Given the description of an element on the screen output the (x, y) to click on. 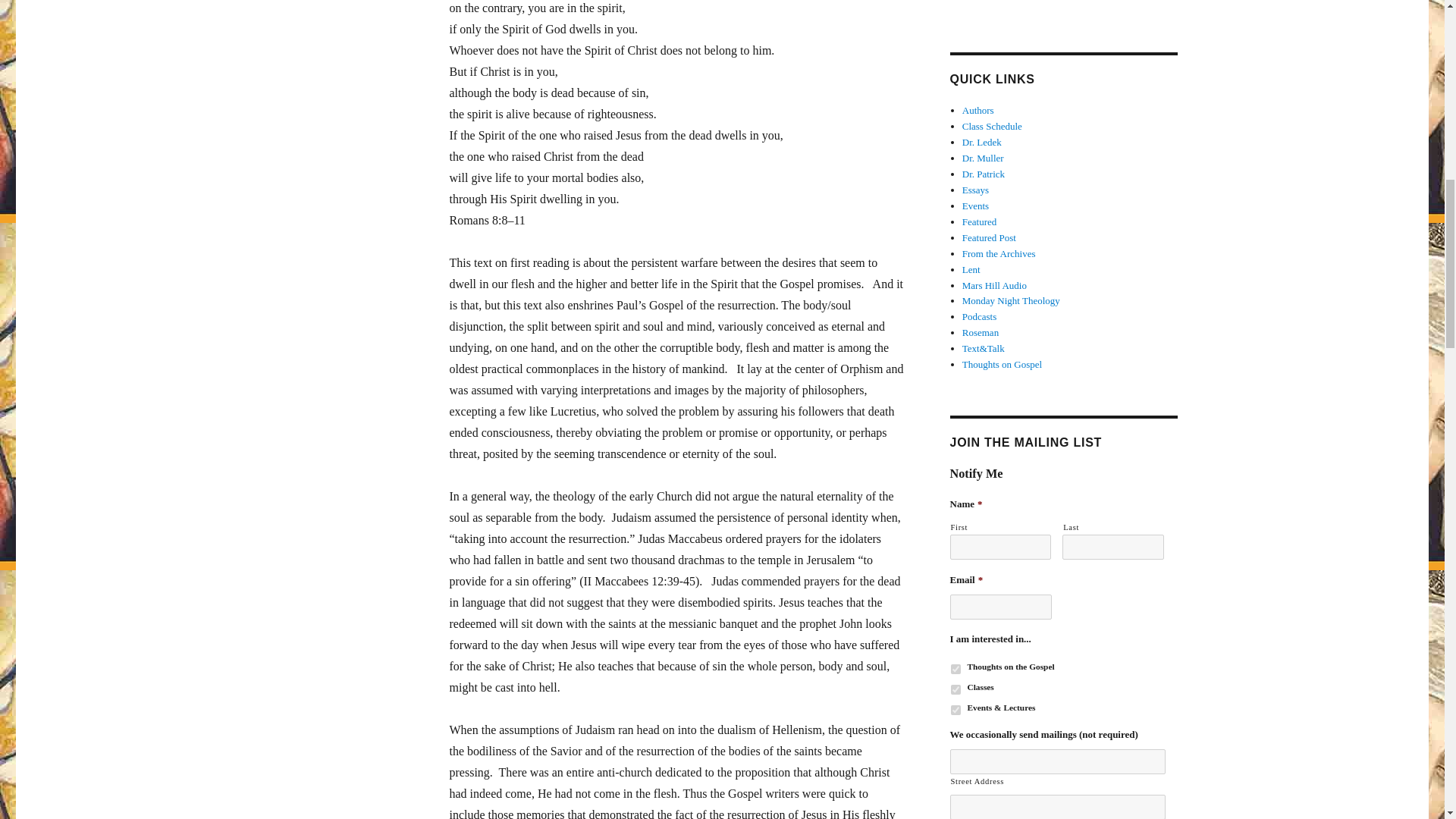
From the Archives (998, 253)
Featured (978, 221)
Dr. Patrick (983, 173)
Dr. Ledek (981, 142)
Events (975, 205)
Essays (975, 189)
Thoughts on the Gospel (955, 669)
Authors (978, 110)
Featured Post (989, 237)
Classes (955, 689)
